Given the description of an element on the screen output the (x, y) to click on. 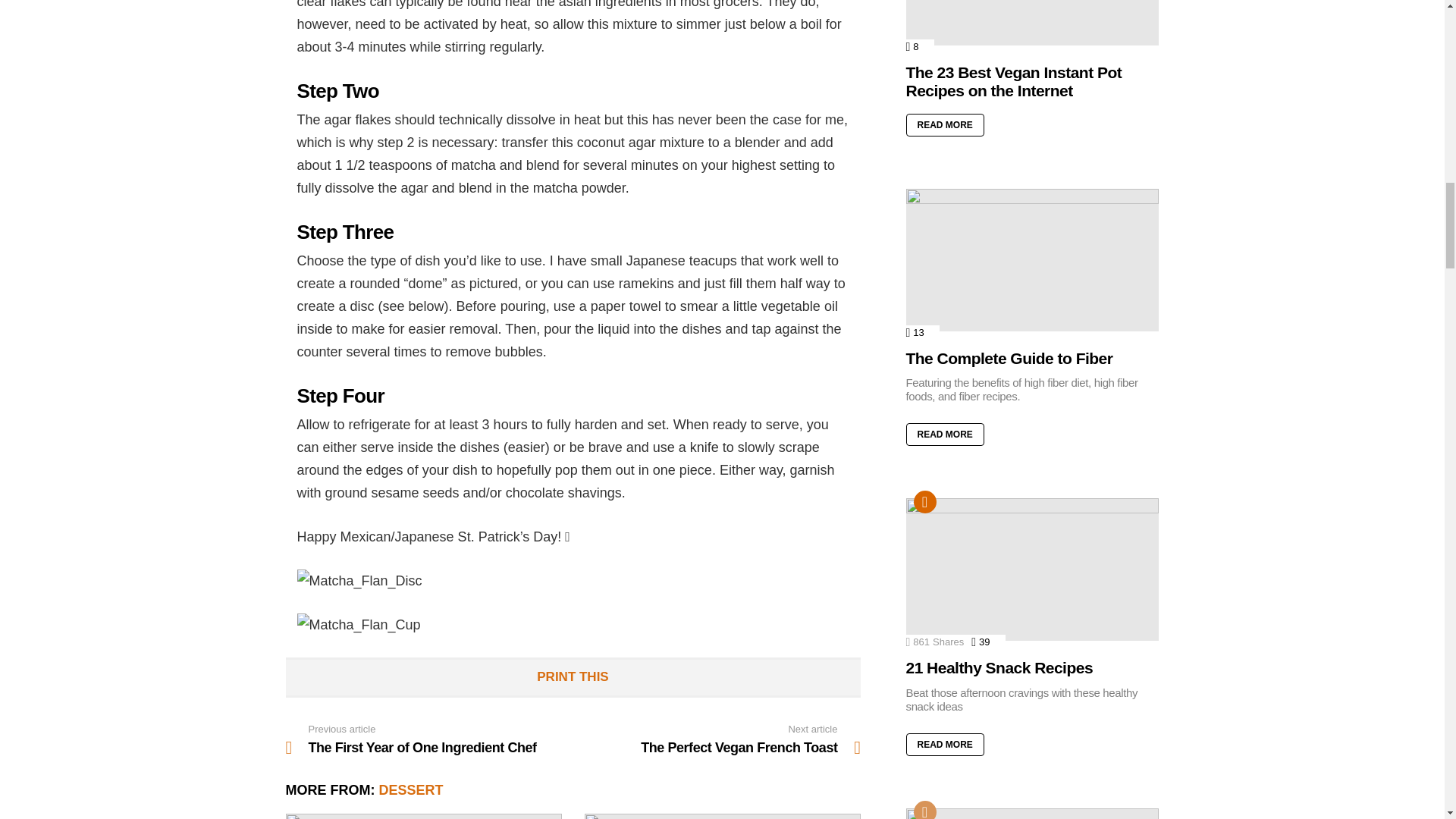
The Malted Maca Milkshake! (422, 816)
DESSERT (411, 789)
PRINT THIS (716, 739)
